Given the description of an element on the screen output the (x, y) to click on. 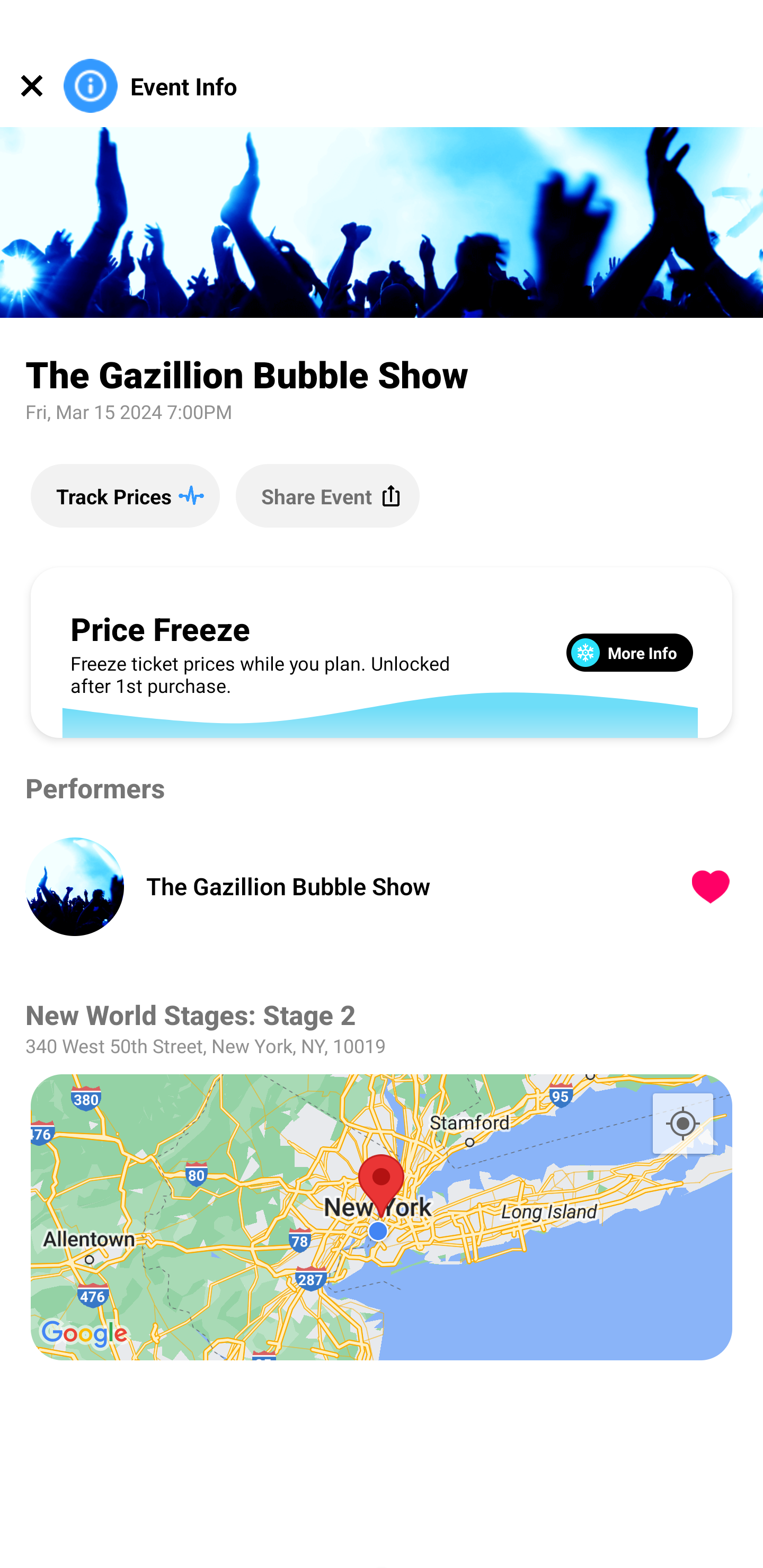
Track Prices (124, 495)
Share Event (327, 495)
More Info (629, 652)
The Gazillion Bubble Show (394, 886)
Google Map New World Stages: Stage 2 My Location (381, 1217)
My Location (682, 1123)
